Given the description of an element on the screen output the (x, y) to click on. 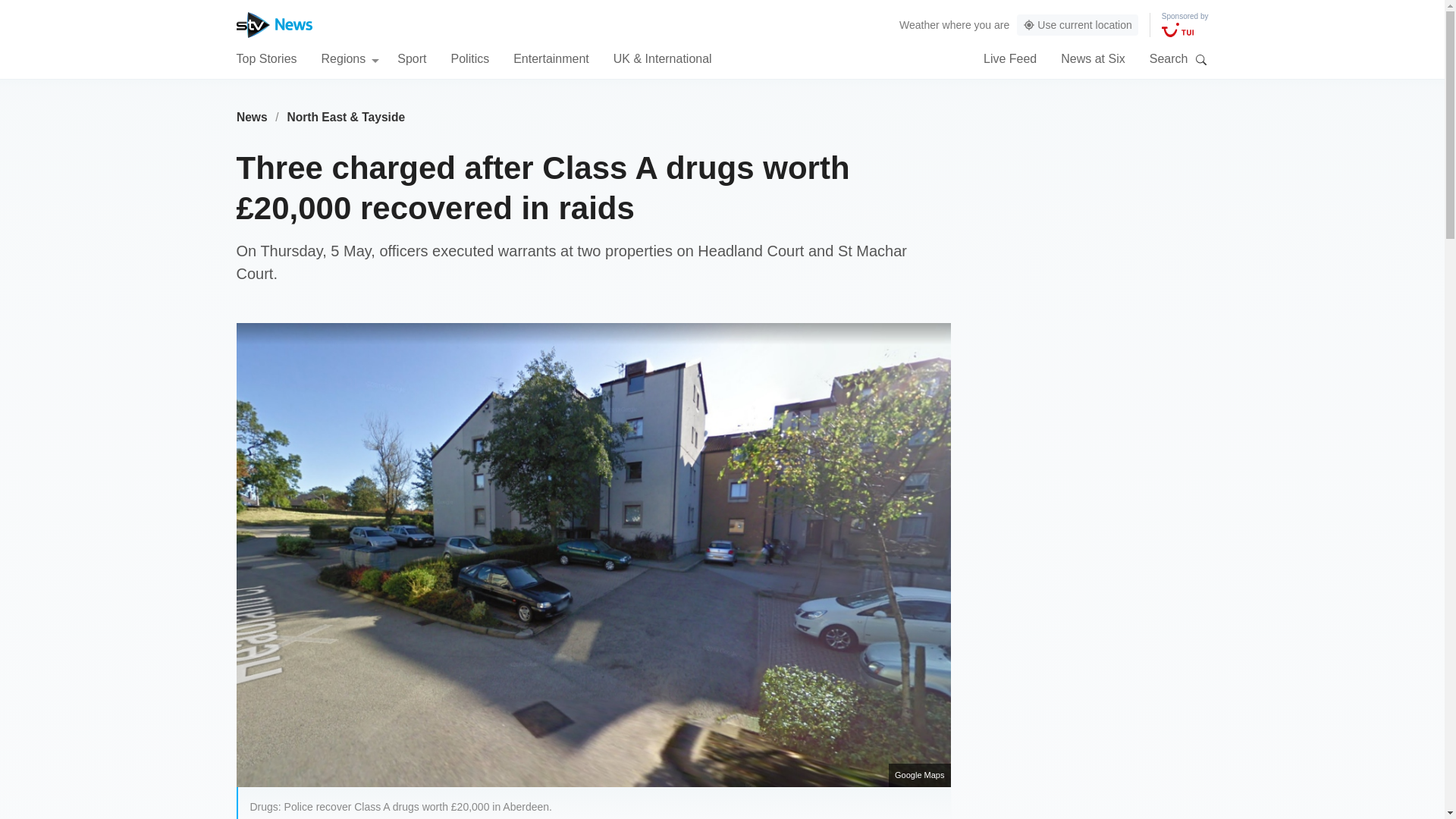
Regions (350, 57)
Weather (919, 24)
News at Six (1092, 57)
Entertainment (551, 57)
Use current location (1077, 25)
News (252, 116)
Top Stories (266, 57)
Live Feed (1010, 57)
Search (1201, 59)
Politics (469, 57)
